Given the description of an element on the screen output the (x, y) to click on. 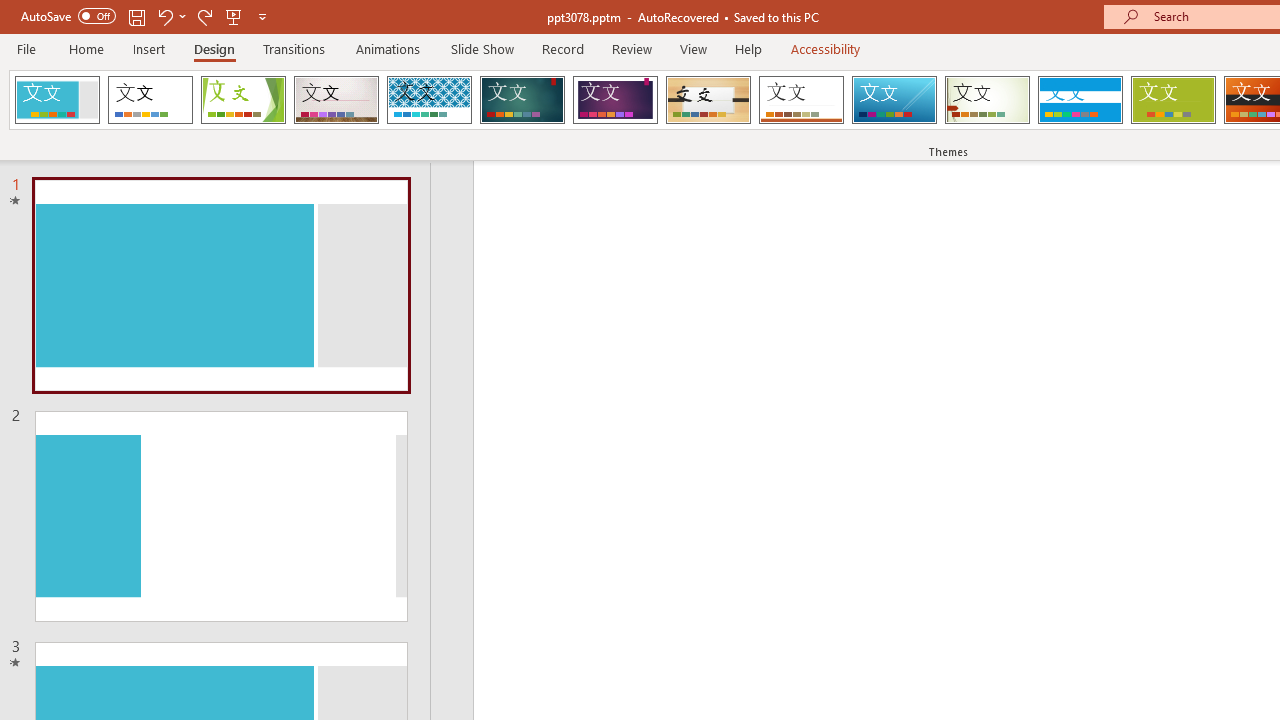
Facet (243, 100)
Office Theme (150, 100)
Organic (708, 100)
Banded (1080, 100)
